Given the description of an element on the screen output the (x, y) to click on. 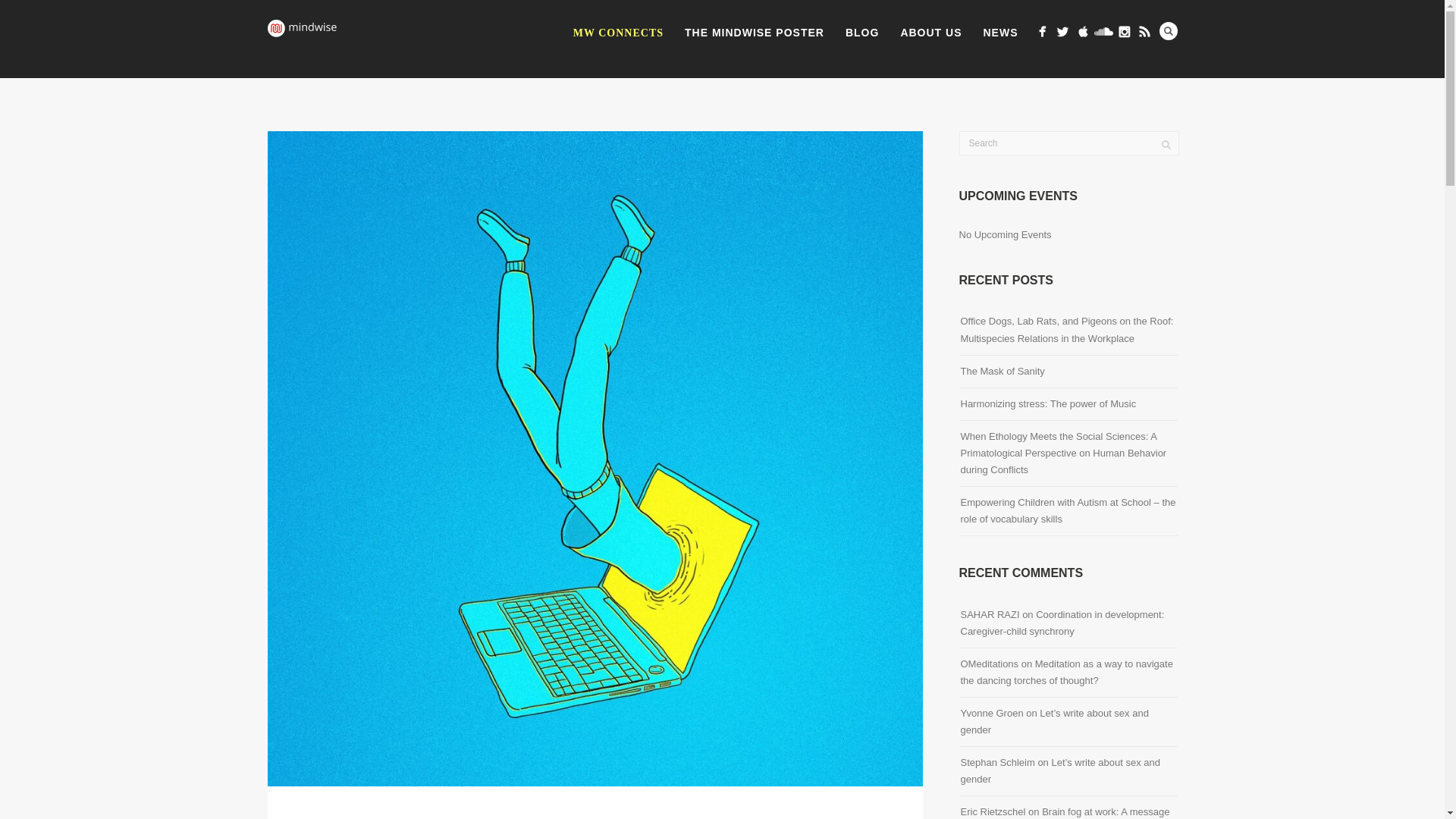
ABOUT US (930, 33)
Twitter (1061, 31)
Facebook (1041, 31)
Soundcloud (1102, 31)
Search (1167, 31)
RSS Feed (1143, 31)
iTunes (1083, 31)
MW CONNECTS (618, 33)
THE MINDWISE POSTER (754, 33)
BLOG (861, 33)
